Given the description of an element on the screen output the (x, y) to click on. 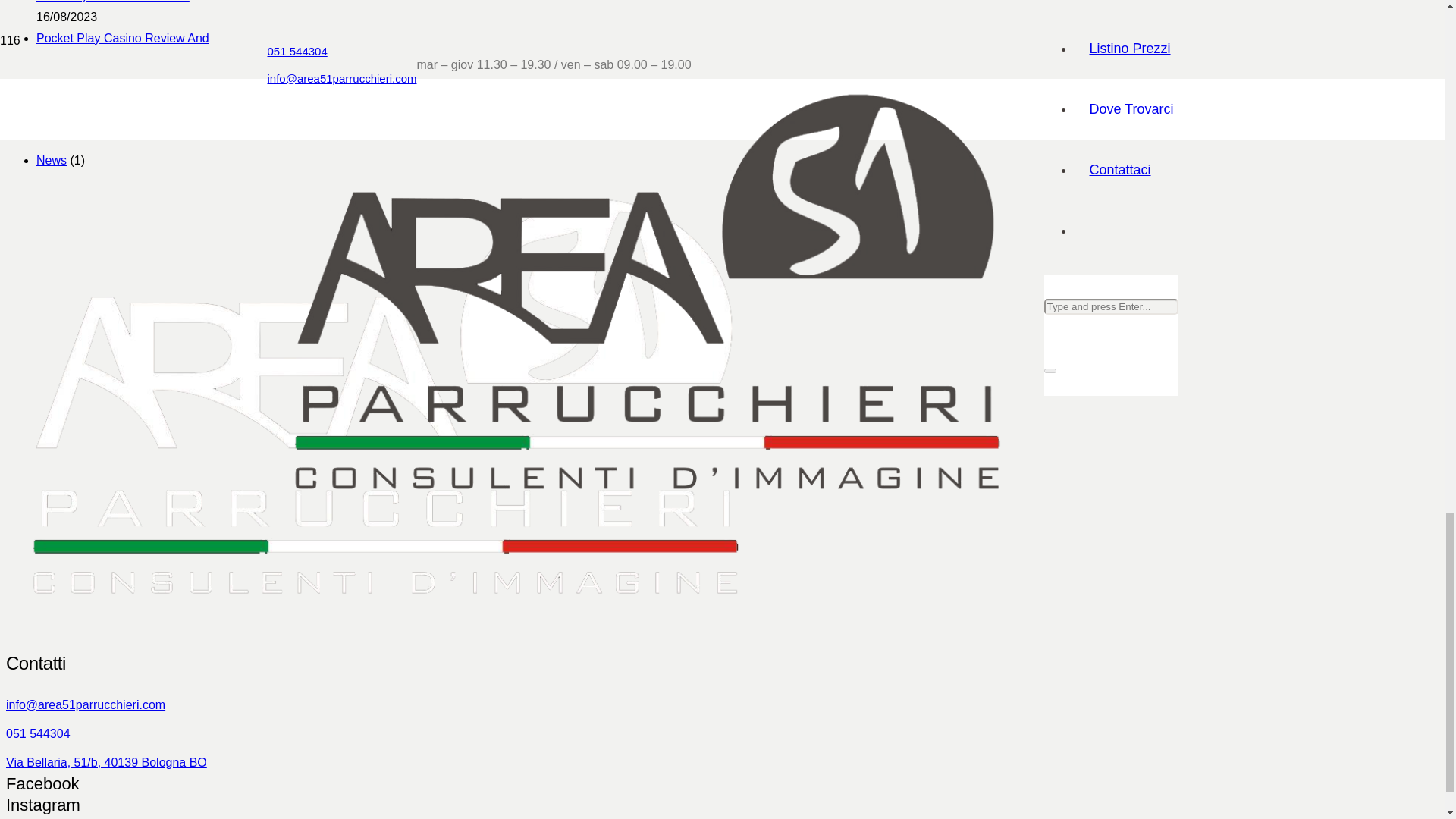
Best Ways To Win At Casino (112, 1)
051 544304 (156, 733)
Pocket Play Casino Review And Free Chips Bonus (122, 48)
News (51, 160)
Wild Stallion Pokie (86, 80)
